Given the description of an element on the screen output the (x, y) to click on. 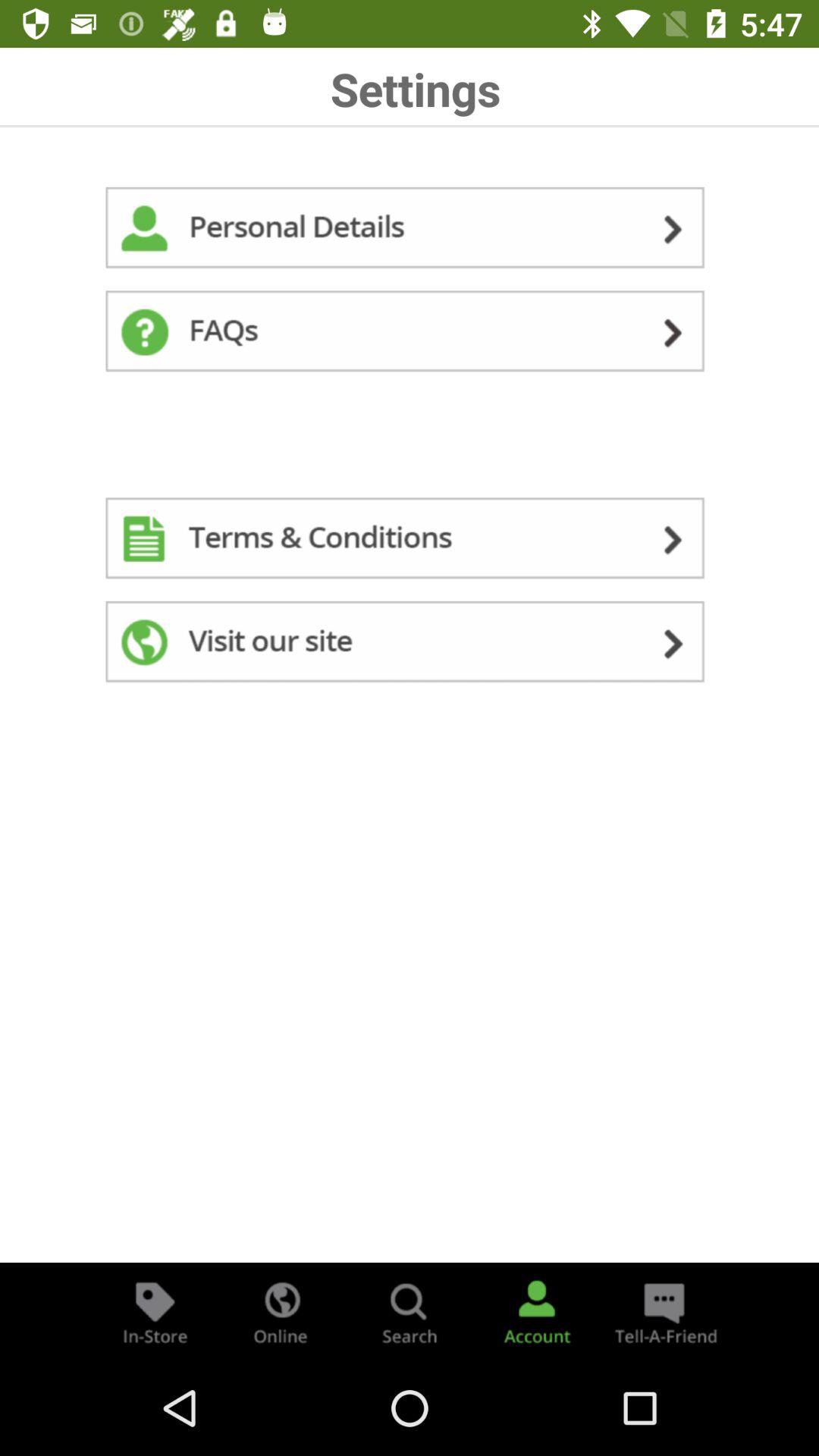
frequently asked questions (409, 334)
